Given the description of an element on the screen output the (x, y) to click on. 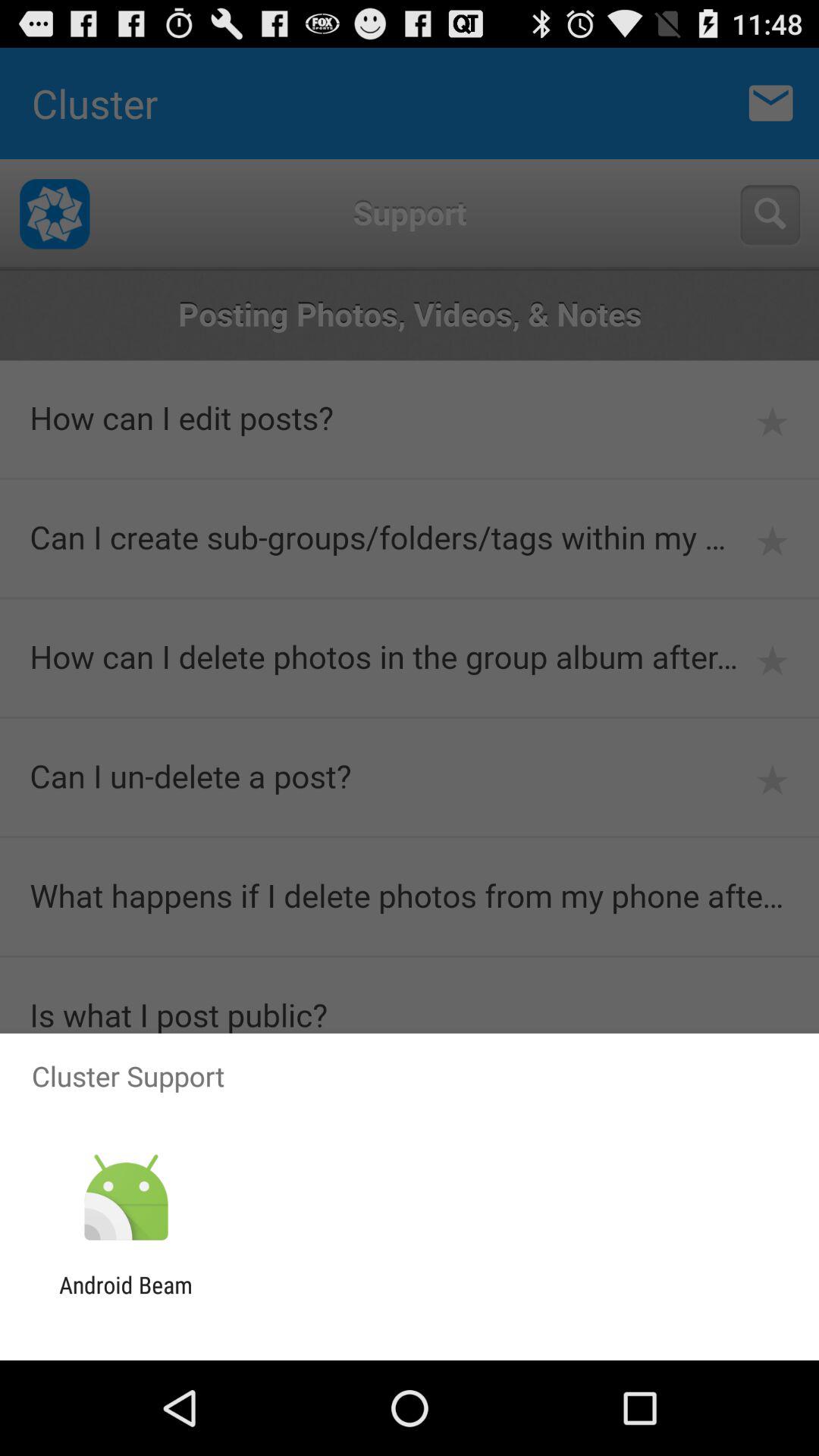
press item below the cluster support item (126, 1198)
